Given the description of an element on the screen output the (x, y) to click on. 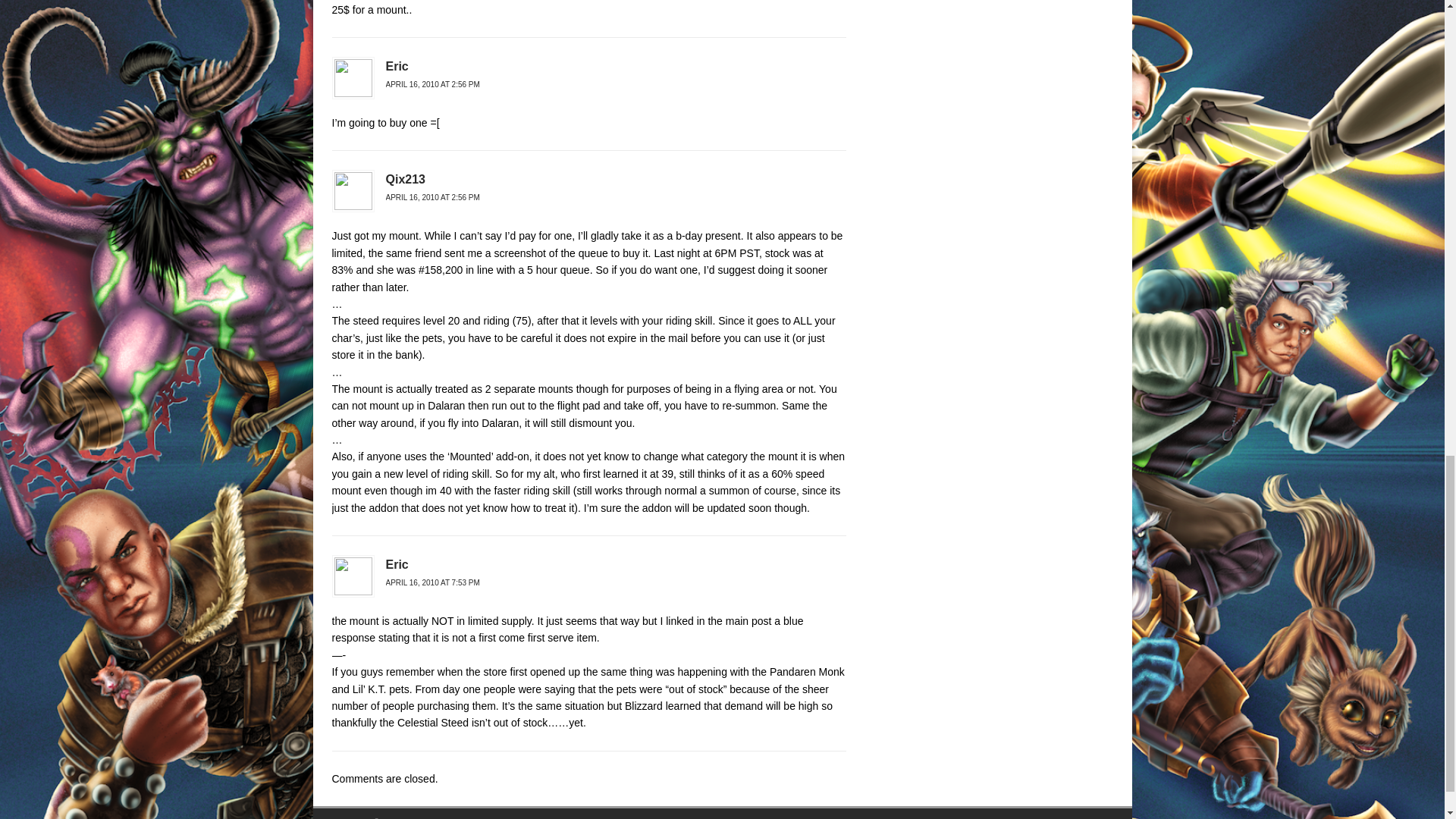
APRIL 16, 2010 AT 2:56 PM (432, 197)
APRIL 16, 2010 AT 2:56 PM (432, 84)
APRIL 16, 2010 AT 7:53 PM (432, 582)
